Given the description of an element on the screen output the (x, y) to click on. 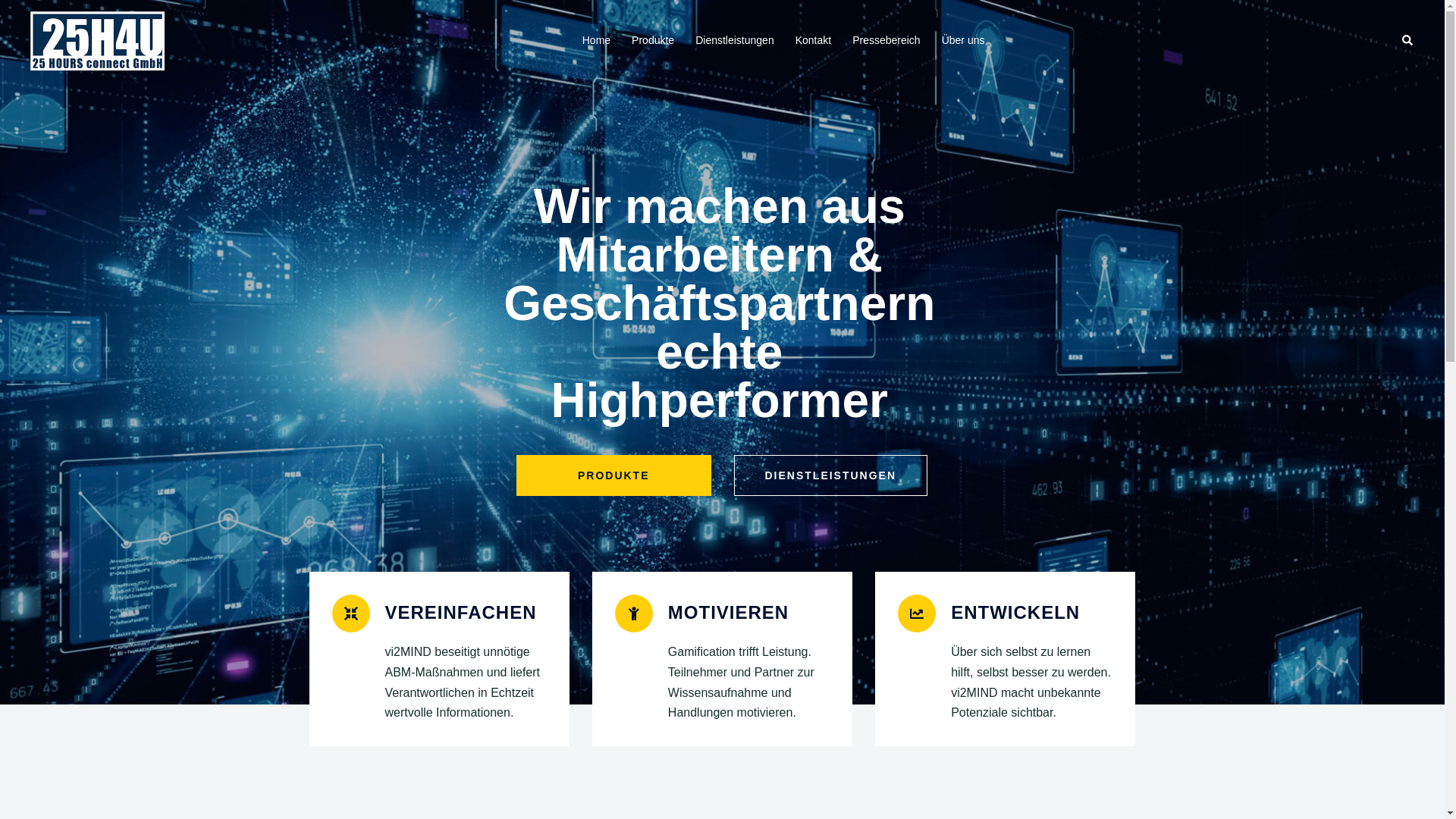
Home Element type: text (596, 40)
Kontakt Element type: text (813, 40)
DIENSTLEISTUNGEN Element type: text (831, 475)
Produkte Element type: text (652, 40)
Dienstleistungen Element type: text (734, 40)
25H4U Element type: hover (97, 39)
PRODUKTE Element type: text (613, 475)
Pressebereich Element type: text (886, 40)
